Given the description of an element on the screen output the (x, y) to click on. 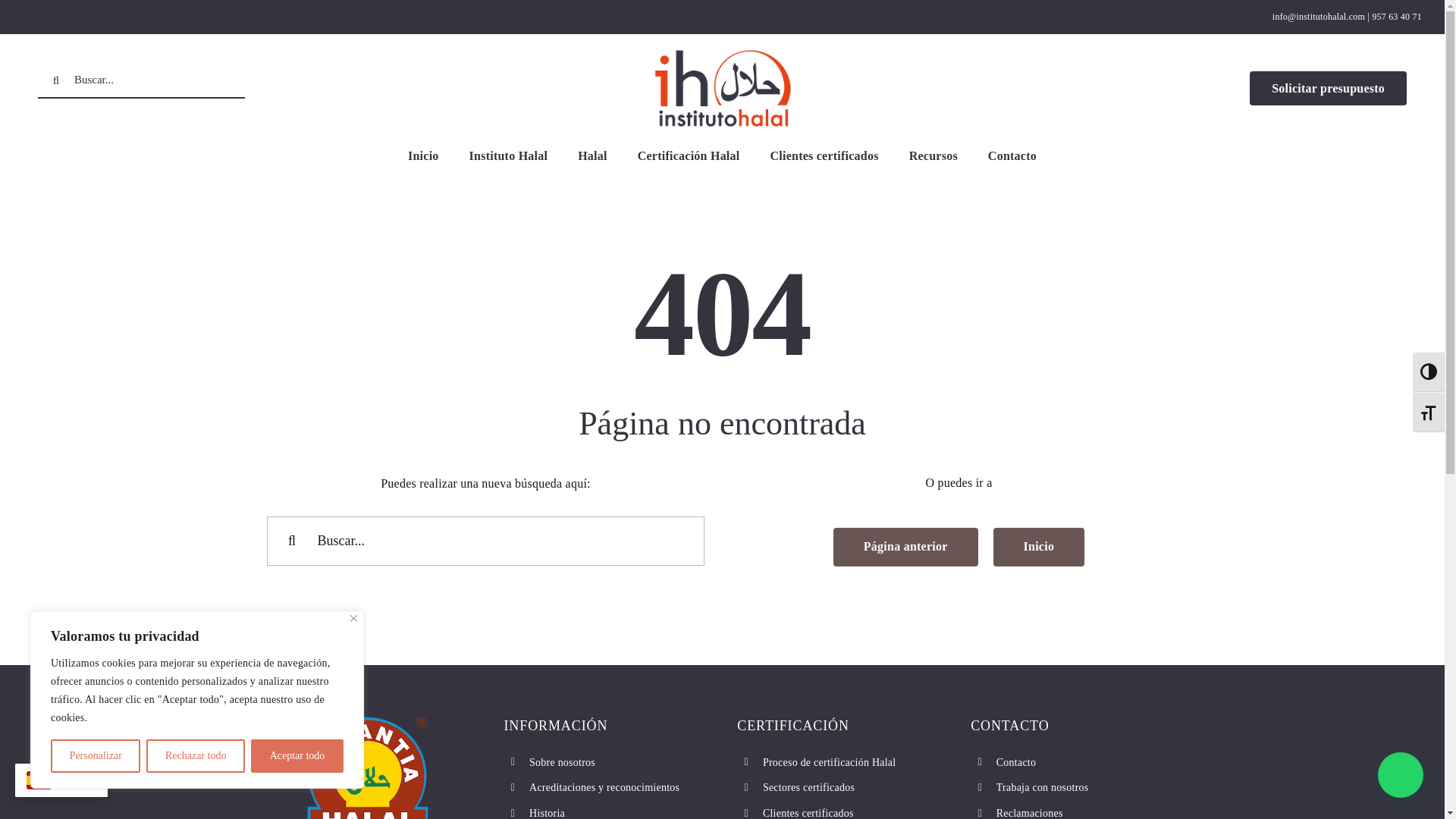
Personalizar (94, 756)
Solicitar presupuesto (1327, 88)
Instituto Halal (508, 156)
Inicio (423, 156)
Aceptar todo (296, 756)
Contacto (1012, 156)
Recursos (933, 156)
Rechazar todo (195, 756)
Halal (592, 156)
Clientes certificados (823, 156)
